Given the description of an element on the screen output the (x, y) to click on. 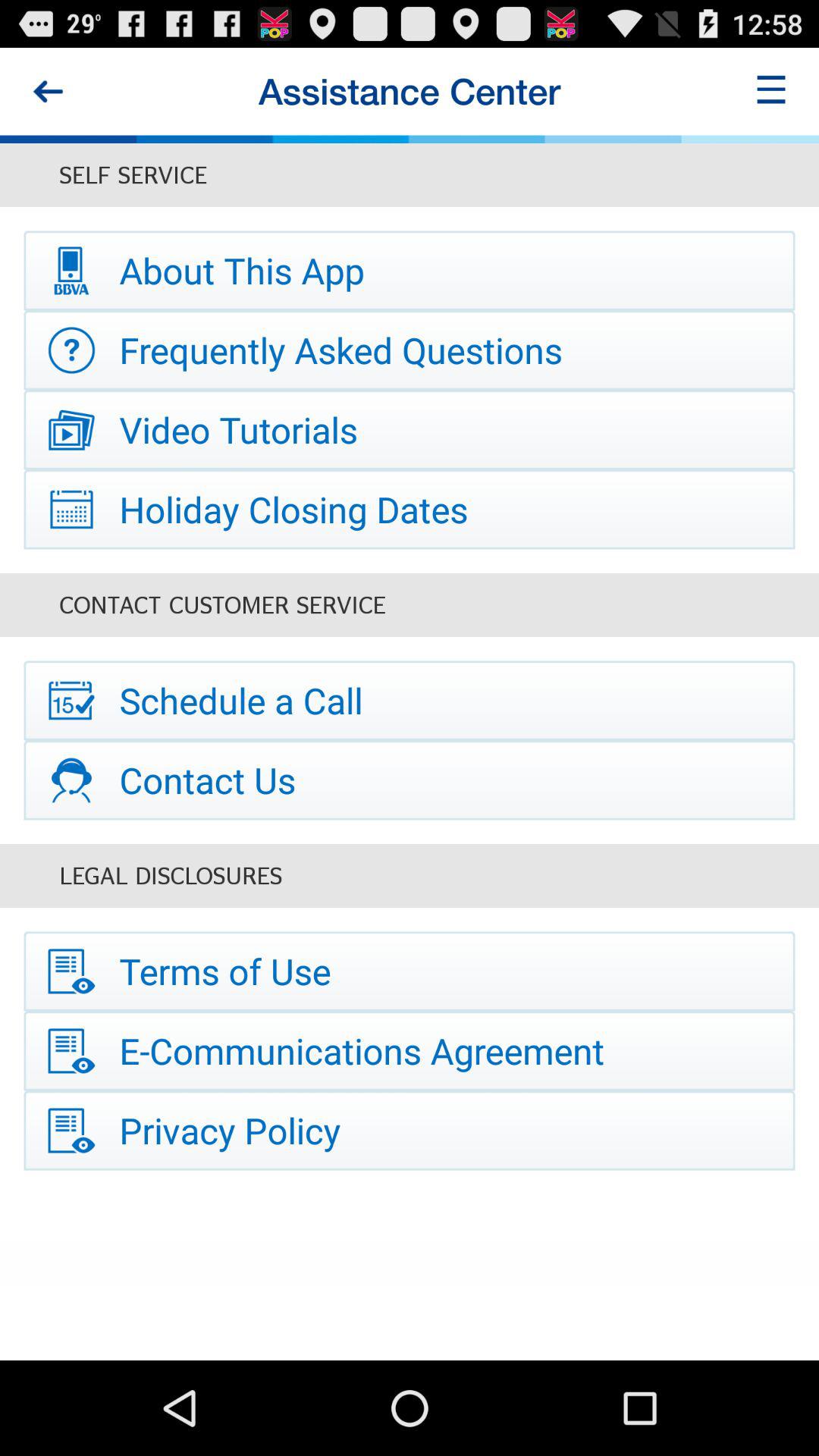
scroll until the schedule a call item (409, 700)
